Given the description of an element on the screen output the (x, y) to click on. 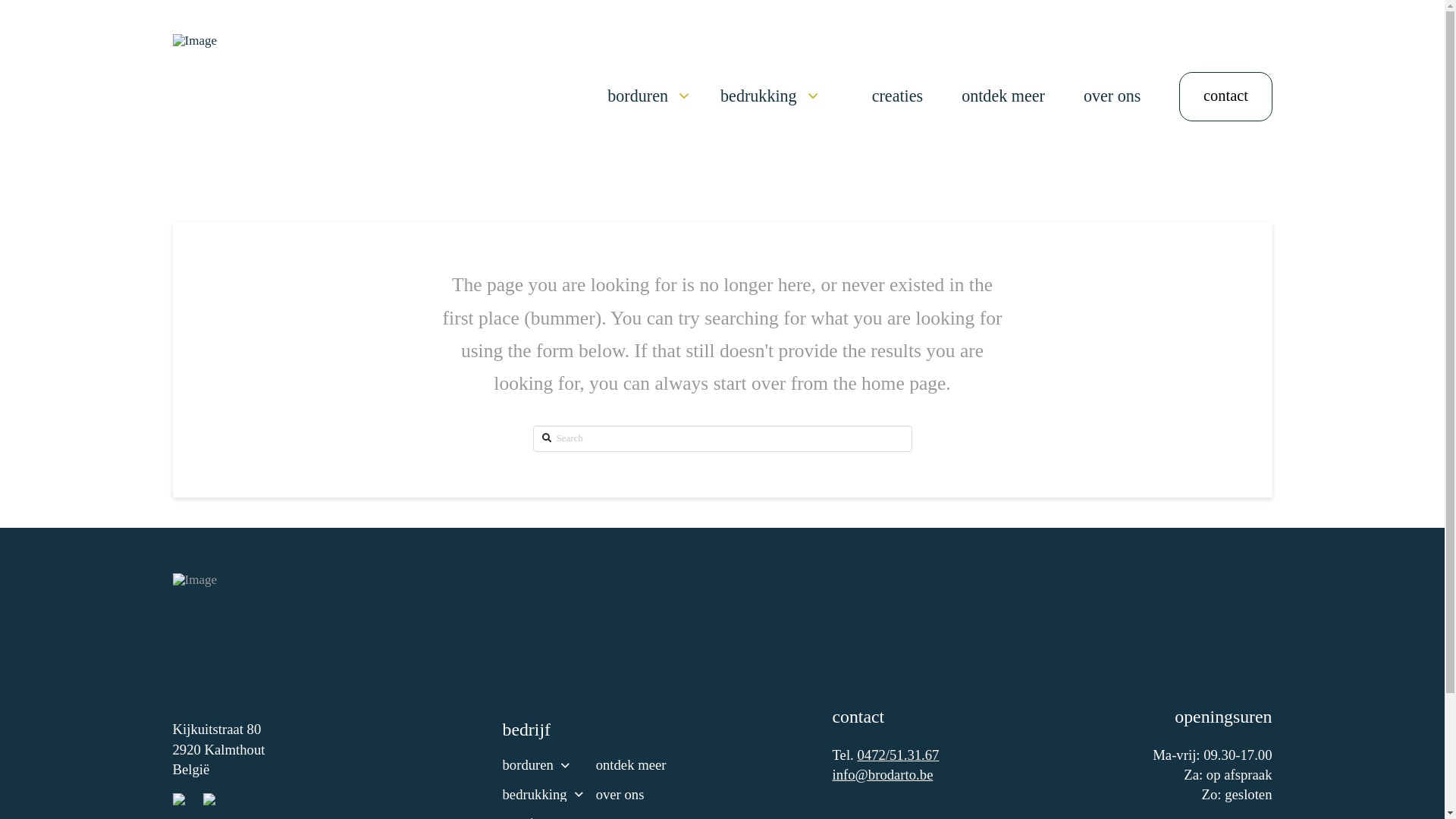
borduren Element type: text (647, 96)
ontdek meer Element type: text (636, 765)
info@brodarto.be Element type: text (882, 774)
borduren Element type: text (542, 765)
bedrukking Element type: text (768, 96)
over ons Element type: text (636, 794)
0472/51.31.67 Element type: text (897, 754)
ontdek meer Element type: text (1002, 96)
creaties Element type: text (897, 96)
bedrukking Element type: text (542, 794)
contact Element type: text (1225, 96)
over ons Element type: text (1111, 96)
